Given the description of an element on the screen output the (x, y) to click on. 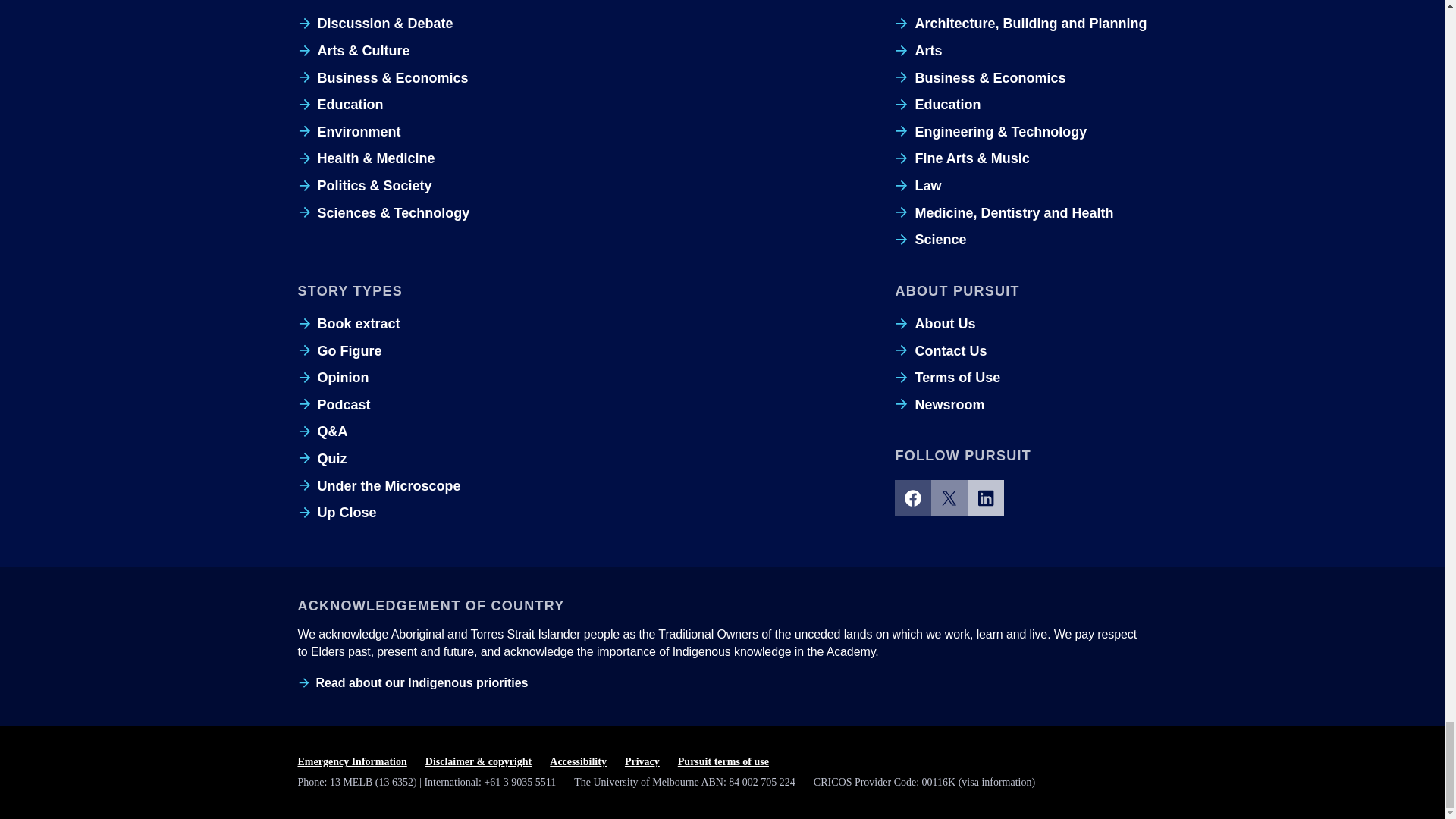
Accessibility (578, 762)
facebook (913, 497)
Pursuit terms of use (723, 762)
Privacy (641, 762)
Emergency Information (351, 762)
linkedin (986, 497)
x (949, 497)
